Given the description of an element on the screen output the (x, y) to click on. 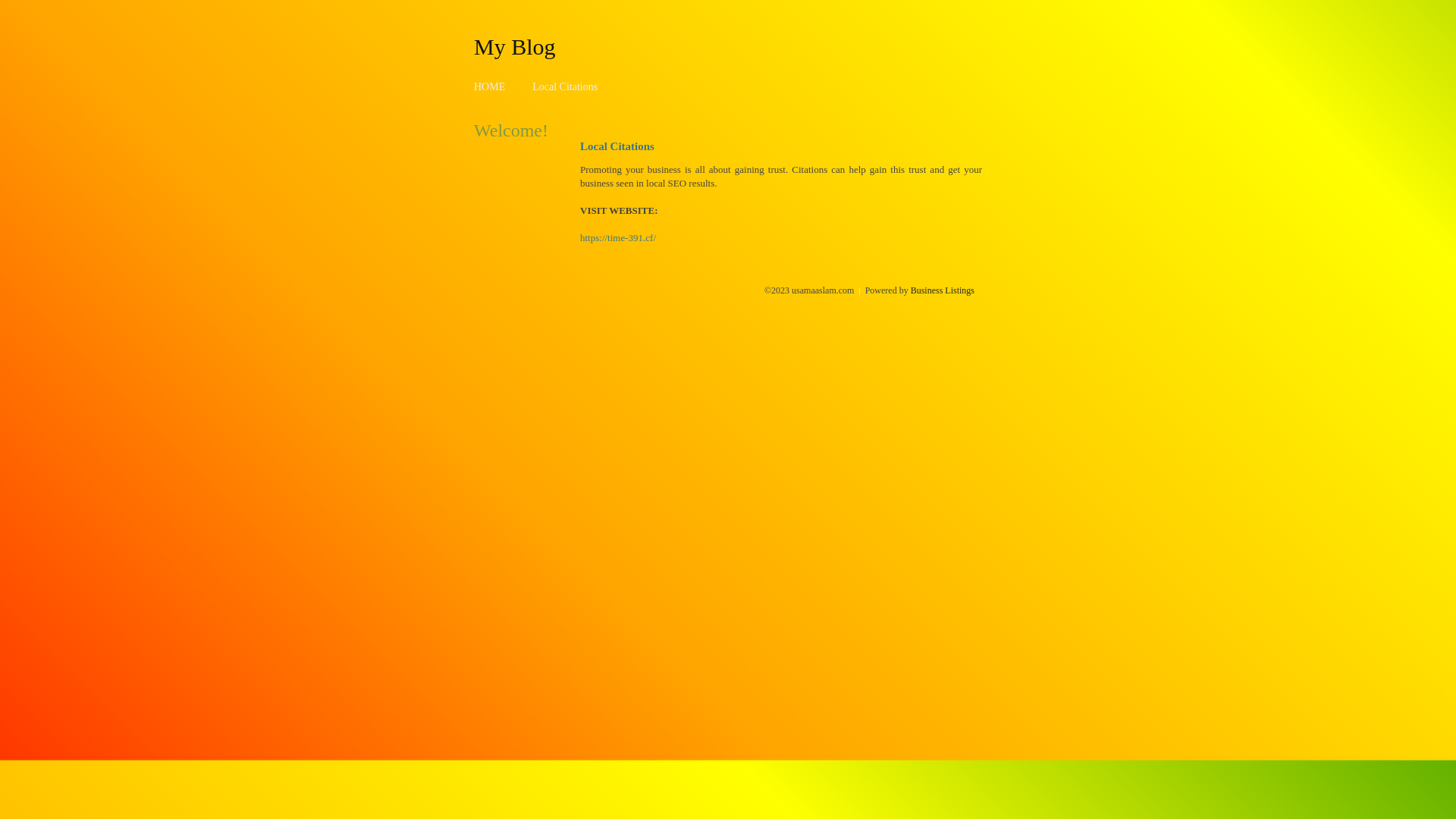
Business Listings Element type: text (942, 290)
My Blog Element type: text (514, 46)
HOME Element type: text (489, 86)
Local Citations Element type: text (564, 86)
https://time-391.cf/ Element type: text (617, 237)
